Given the description of an element on the screen output the (x, y) to click on. 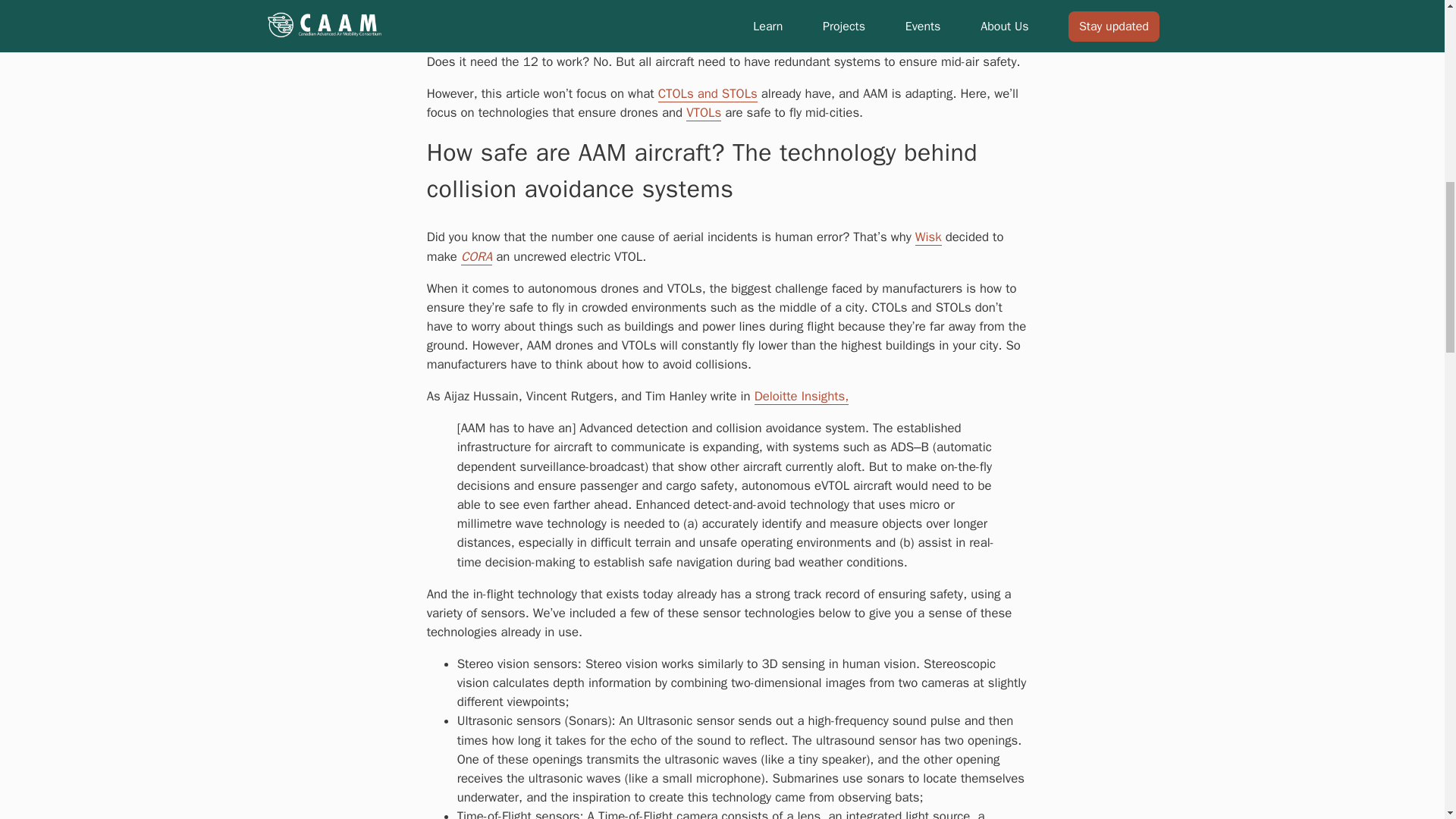
VTOLs (702, 112)
CORA (476, 256)
CTOLs and STOLs (707, 93)
Wisk (928, 237)
Deloitte Insights, (801, 396)
